Given the description of an element on the screen output the (x, y) to click on. 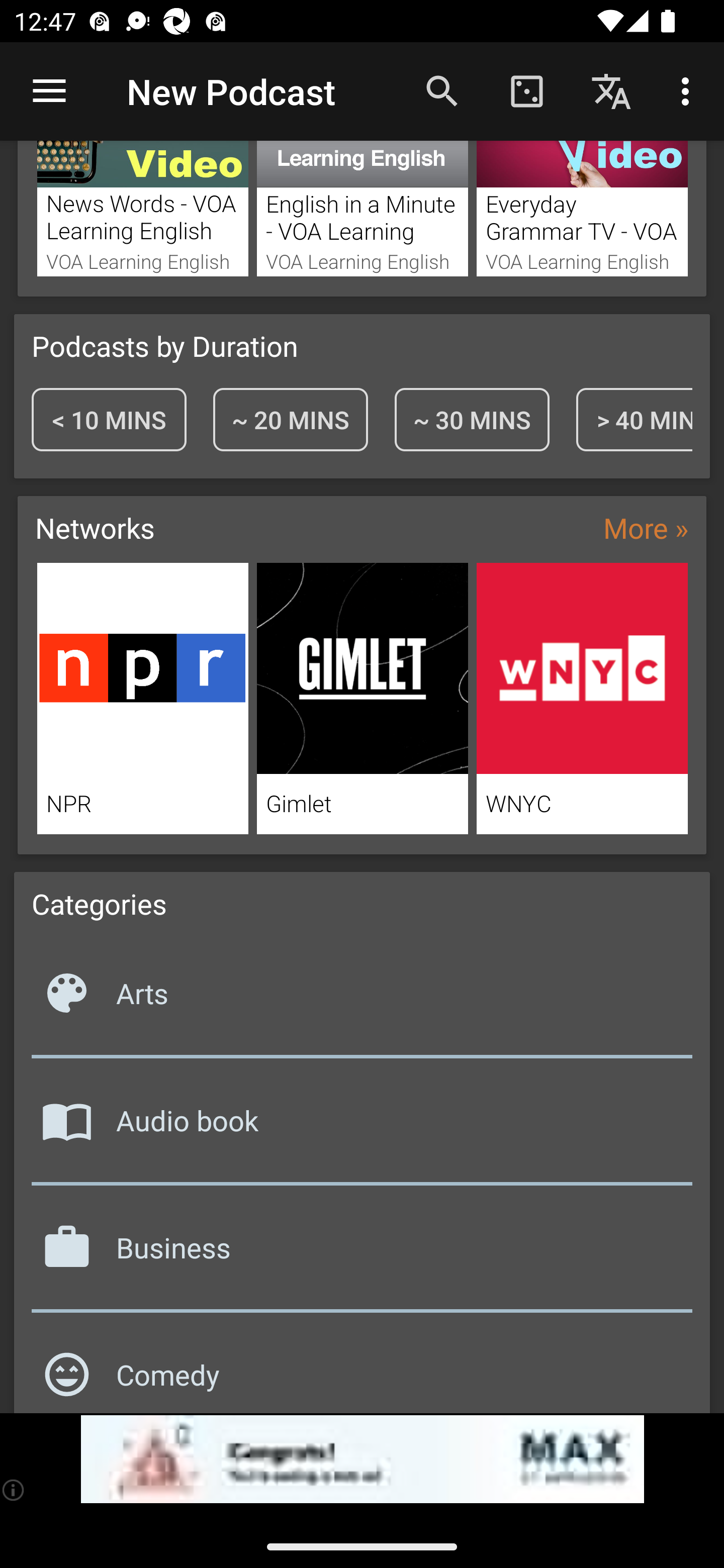
Open navigation sidebar (49, 91)
Search (442, 90)
Random pick (526, 90)
Podcast languages (611, 90)
More options (688, 90)
< 10 MINS (108, 419)
~ 20 MINS (289, 419)
~ 30 MINS (471, 419)
> 40 MINS (634, 419)
More » (645, 527)
NPR (142, 698)
Gimlet (362, 698)
WNYC (581, 698)
Arts (361, 1000)
Audio book (361, 1127)
Business (361, 1254)
Comedy (361, 1365)
app-monetization (362, 1459)
(i) (14, 1489)
